Given the description of an element on the screen output the (x, y) to click on. 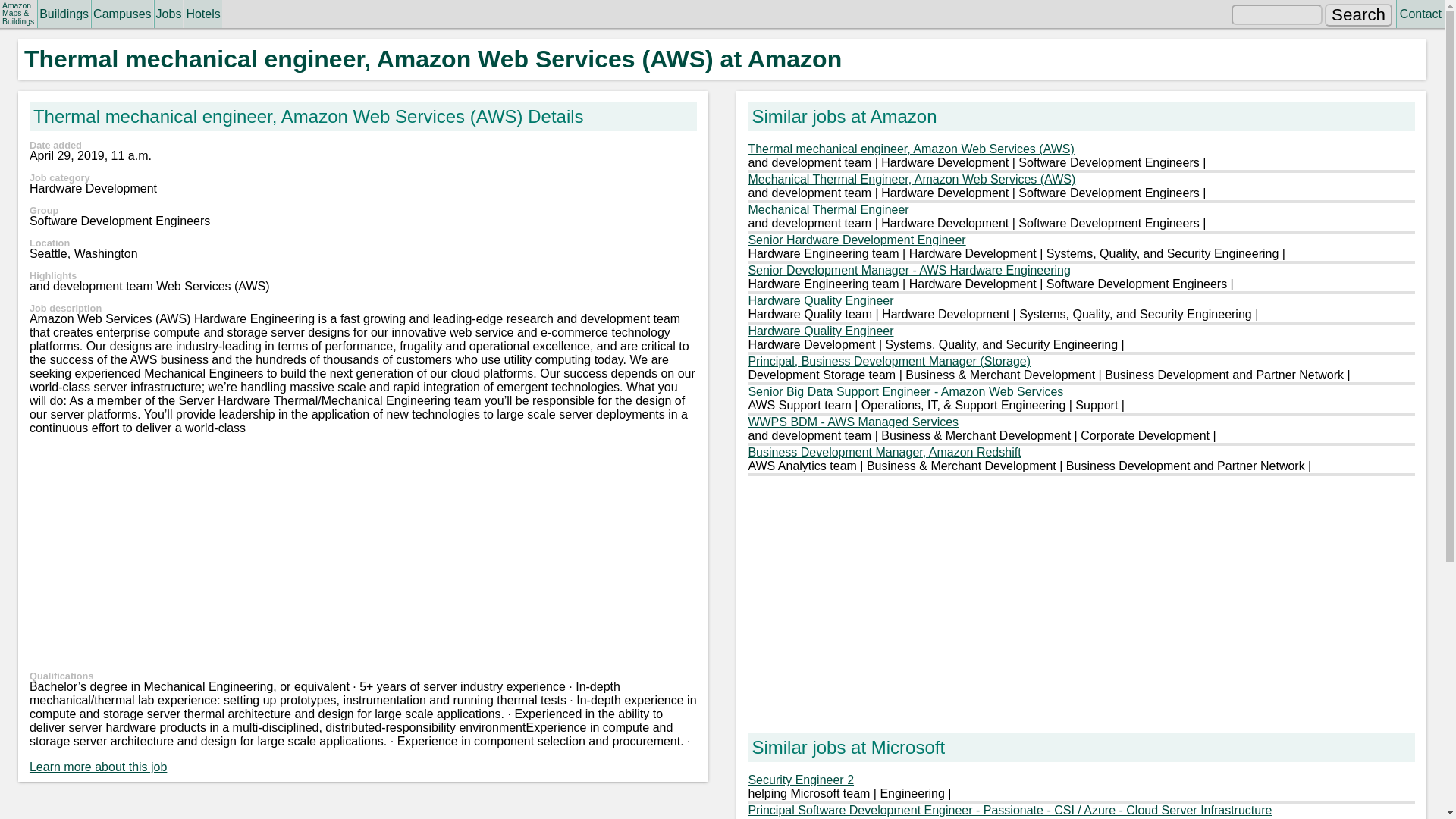
Senior Hardware Development Engineer (856, 239)
Mechanical Thermal Engineer (828, 209)
WWPS BDM - AWS Managed Services (853, 421)
Senior Big Data Support Engineer - Amazon Web Services (905, 391)
Jobs (168, 13)
Search (1358, 15)
Hardware Quality Engineer (820, 330)
Business Development Manager, Amazon Redshift (884, 451)
Buildings (63, 13)
Hotels (202, 13)
Senior Development Manager - AWS Hardware Engineering (909, 269)
Hardware Quality Engineer (820, 300)
Campuses (121, 13)
